Given the description of an element on the screen output the (x, y) to click on. 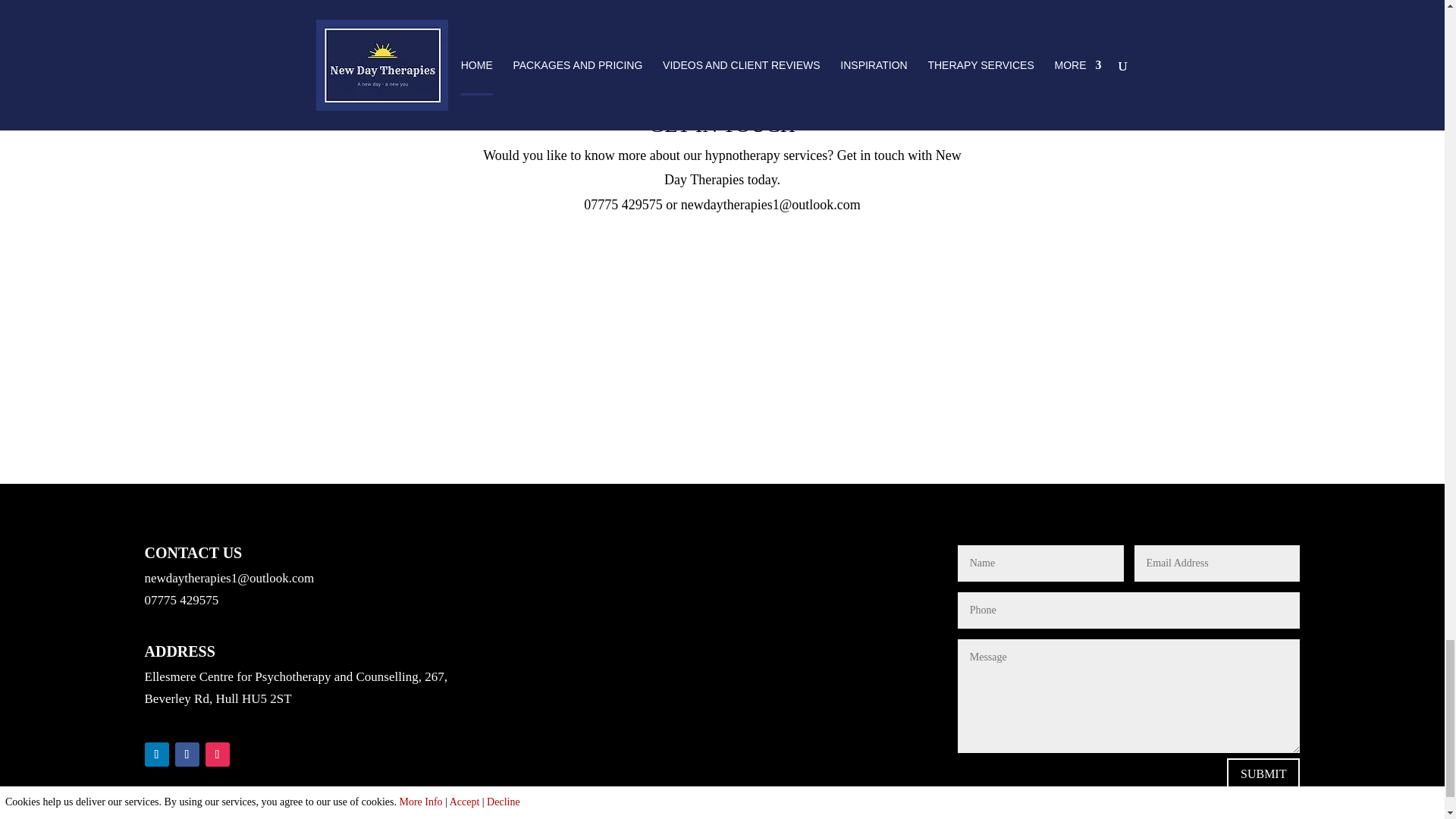
07775 429575 (181, 599)
Follow on LinkedIn (156, 754)
07775 429575 (622, 204)
Follow on Instagram (216, 754)
Follow on Facebook (186, 754)
SUBMIT (1263, 773)
